Given the description of an element on the screen output the (x, y) to click on. 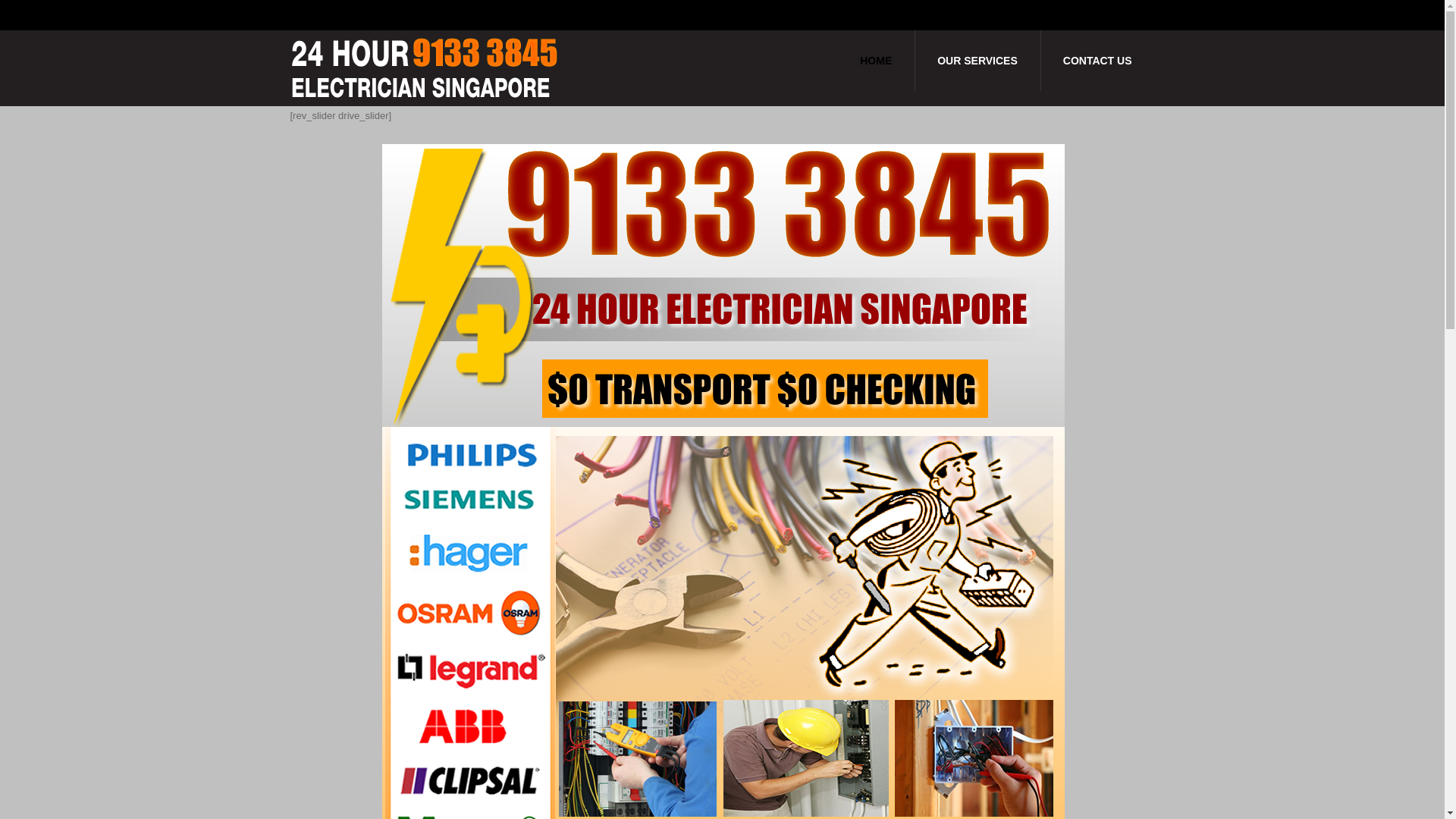
CONTACT US Element type: text (1097, 60)
OUR SERVICES Element type: text (977, 60)
HOME Element type: text (875, 60)
